Given the description of an element on the screen output the (x, y) to click on. 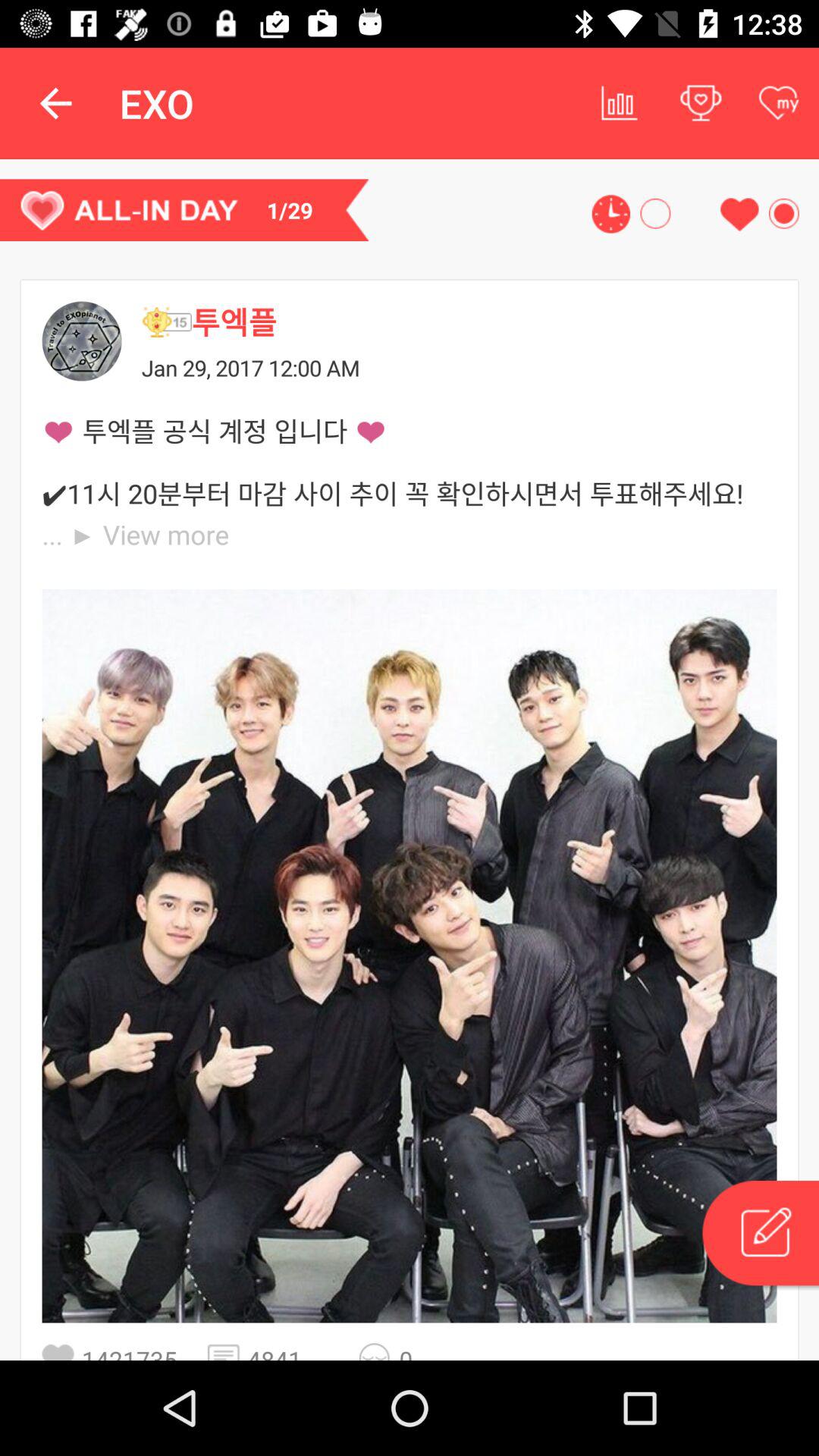
turn on the item above the 1/29 item (55, 103)
